Given the description of an element on the screen output the (x, y) to click on. 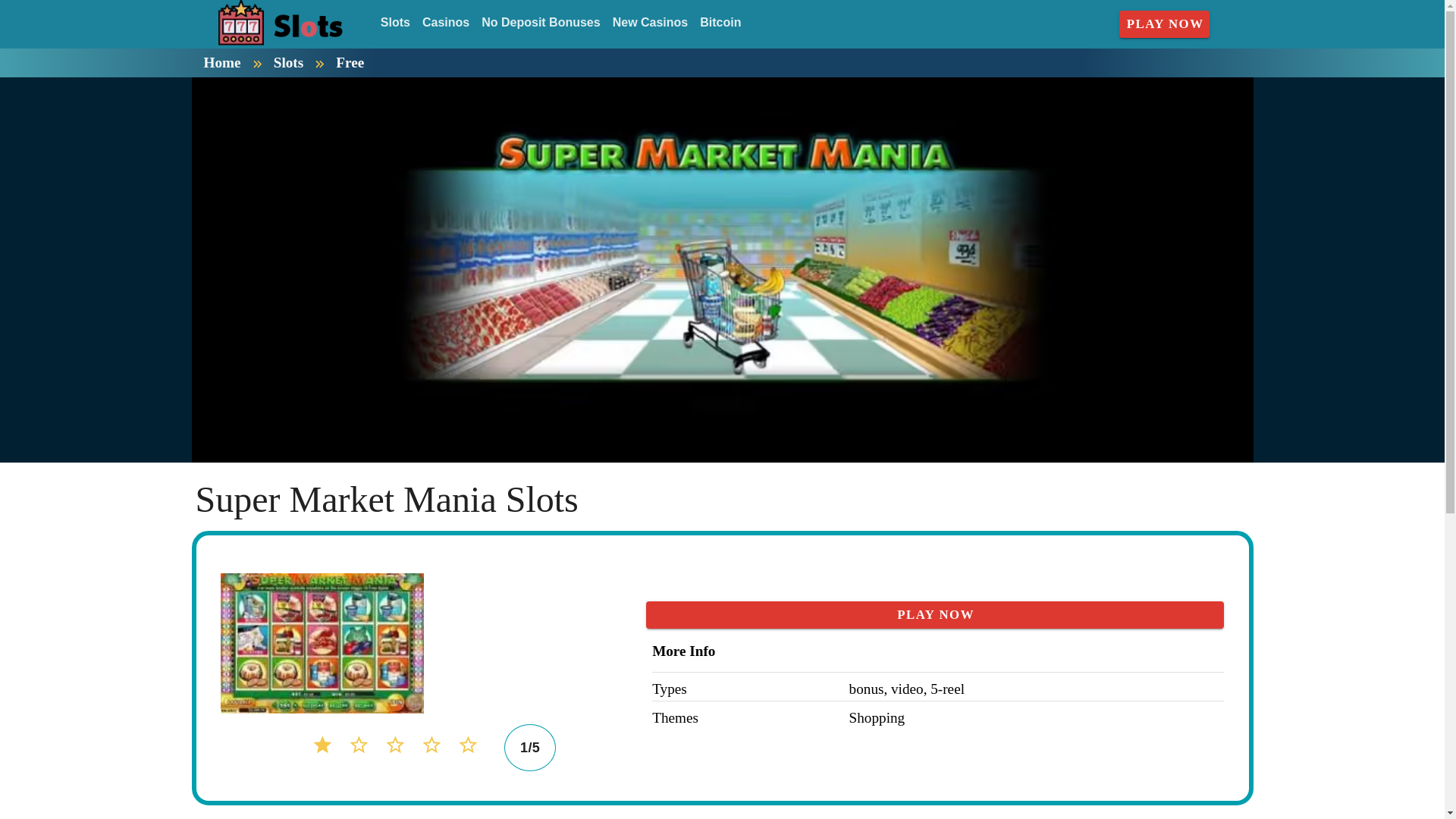
Slots (287, 62)
New Casinos (650, 22)
No Deposit Bonuses (540, 22)
Free (350, 62)
Casinos (446, 22)
Slots (395, 22)
PLAY NOW (935, 614)
Bitcoin (720, 22)
PLAY NOW (1164, 23)
Home (221, 62)
